Given the description of an element on the screen output the (x, y) to click on. 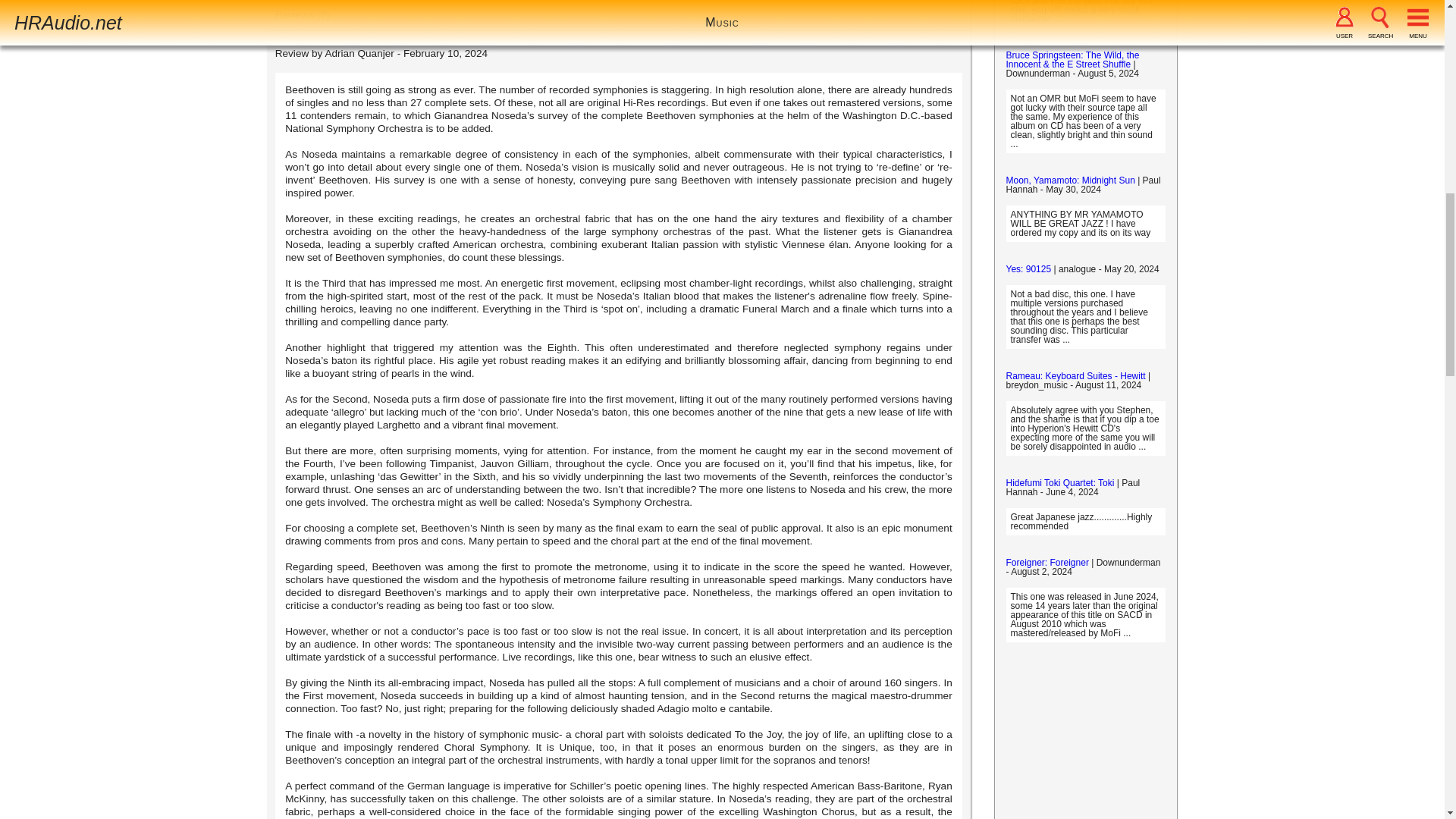
Foreigner: Foreigner (1046, 562)
Hidefumi Toki Quartet: Toki (1059, 482)
Moon, Yamamoto: Midnight Sun (1070, 180)
Rameau: Keyboard Suites - Hewitt (1075, 376)
Yes: 90125 (1028, 268)
